Given the description of an element on the screen output the (x, y) to click on. 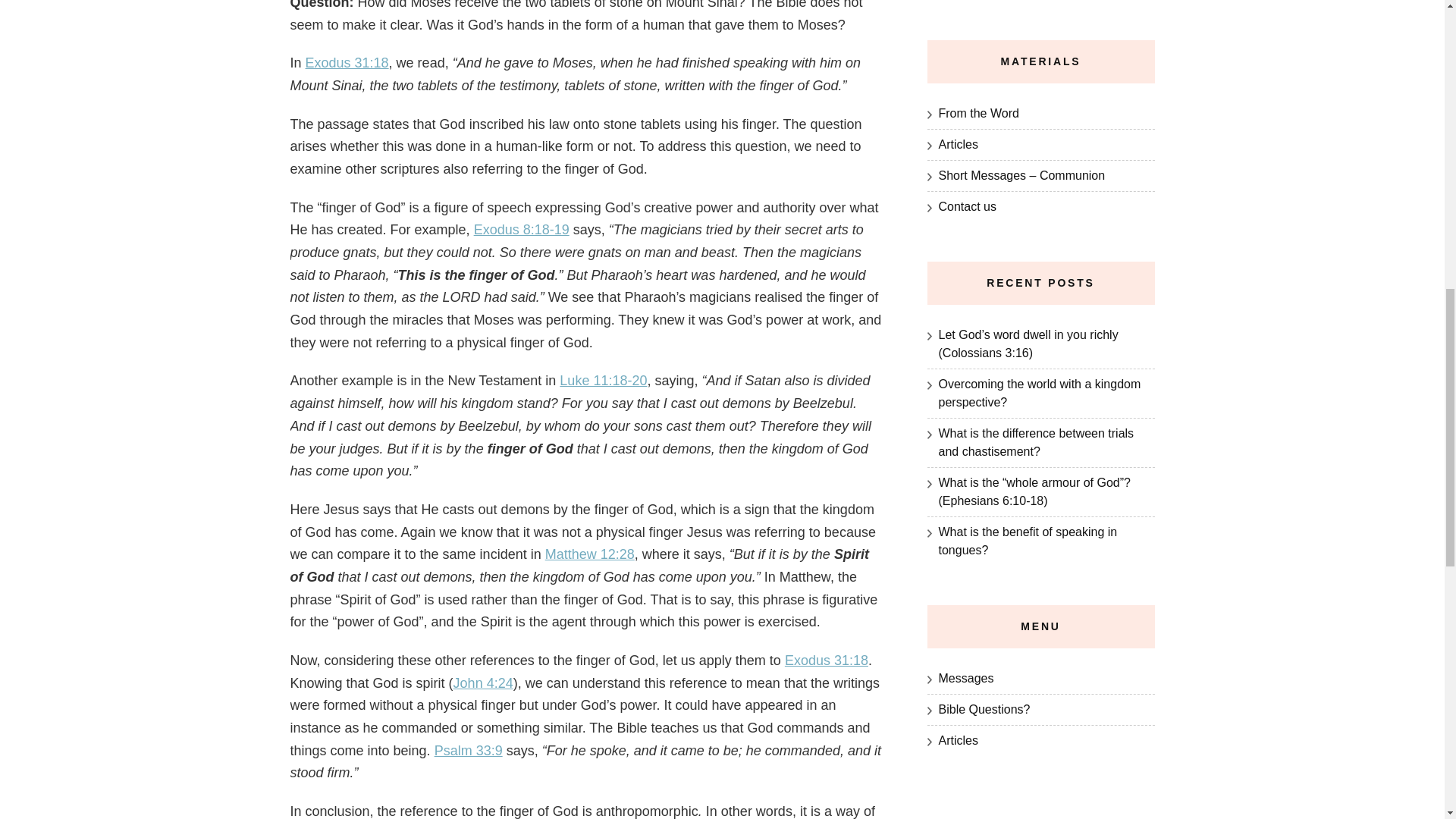
Luke 11:18-20 (602, 380)
Exodus 8:18-19 (521, 229)
Exodus 31:18 (825, 660)
Matthew 12:28 (589, 554)
John 4:24 (482, 683)
Exodus 31:18 (346, 62)
Psalm 33:9 (467, 750)
